Given the description of an element on the screen output the (x, y) to click on. 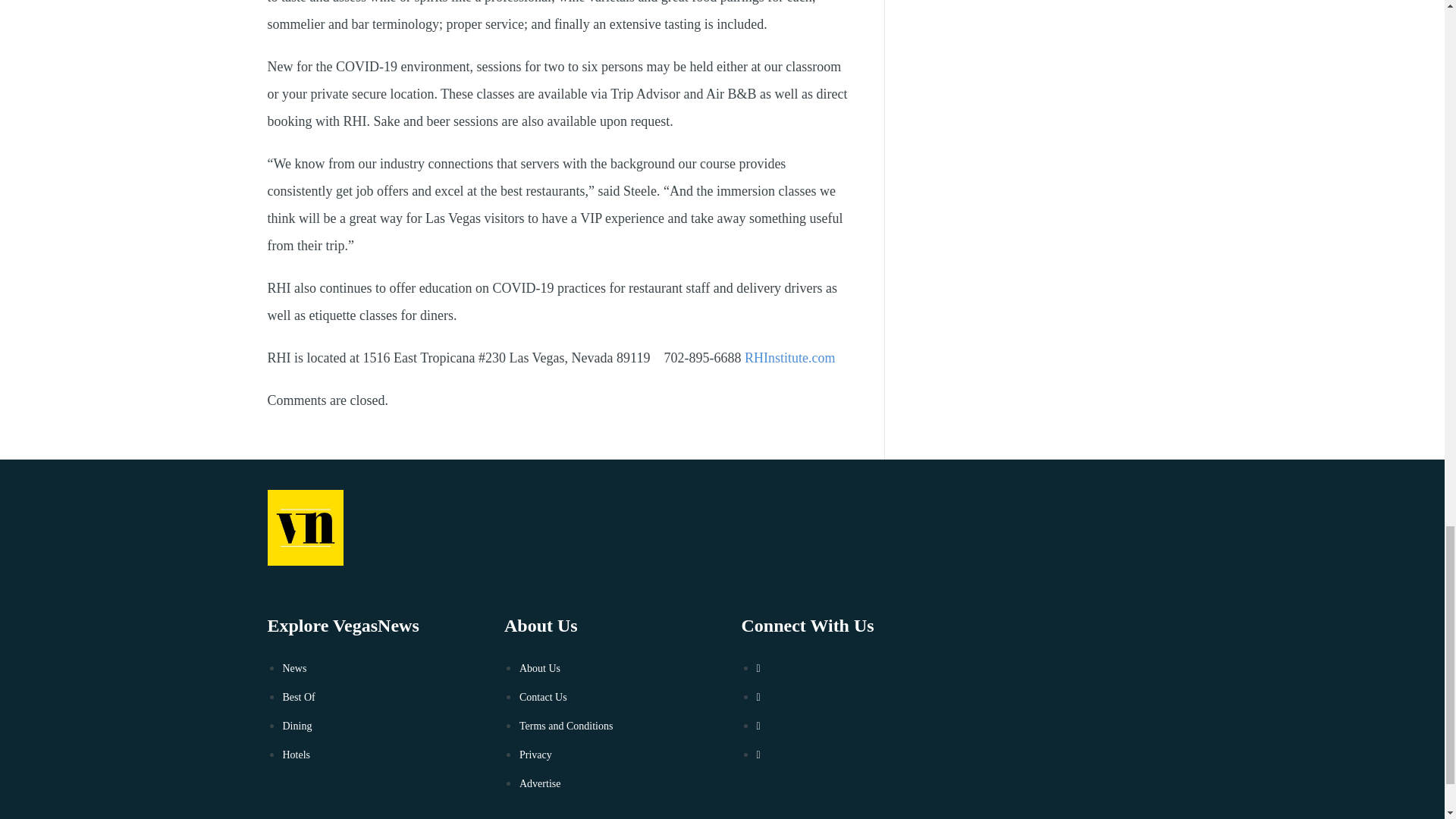
Hotels (296, 754)
About Us (539, 668)
Dining (296, 726)
News (293, 668)
RHInstitute.com  (791, 357)
Contact Us (543, 696)
Terms and Conditions (565, 726)
Advertise (539, 783)
Privacy (535, 754)
Best Of (298, 696)
